Given the description of an element on the screen output the (x, y) to click on. 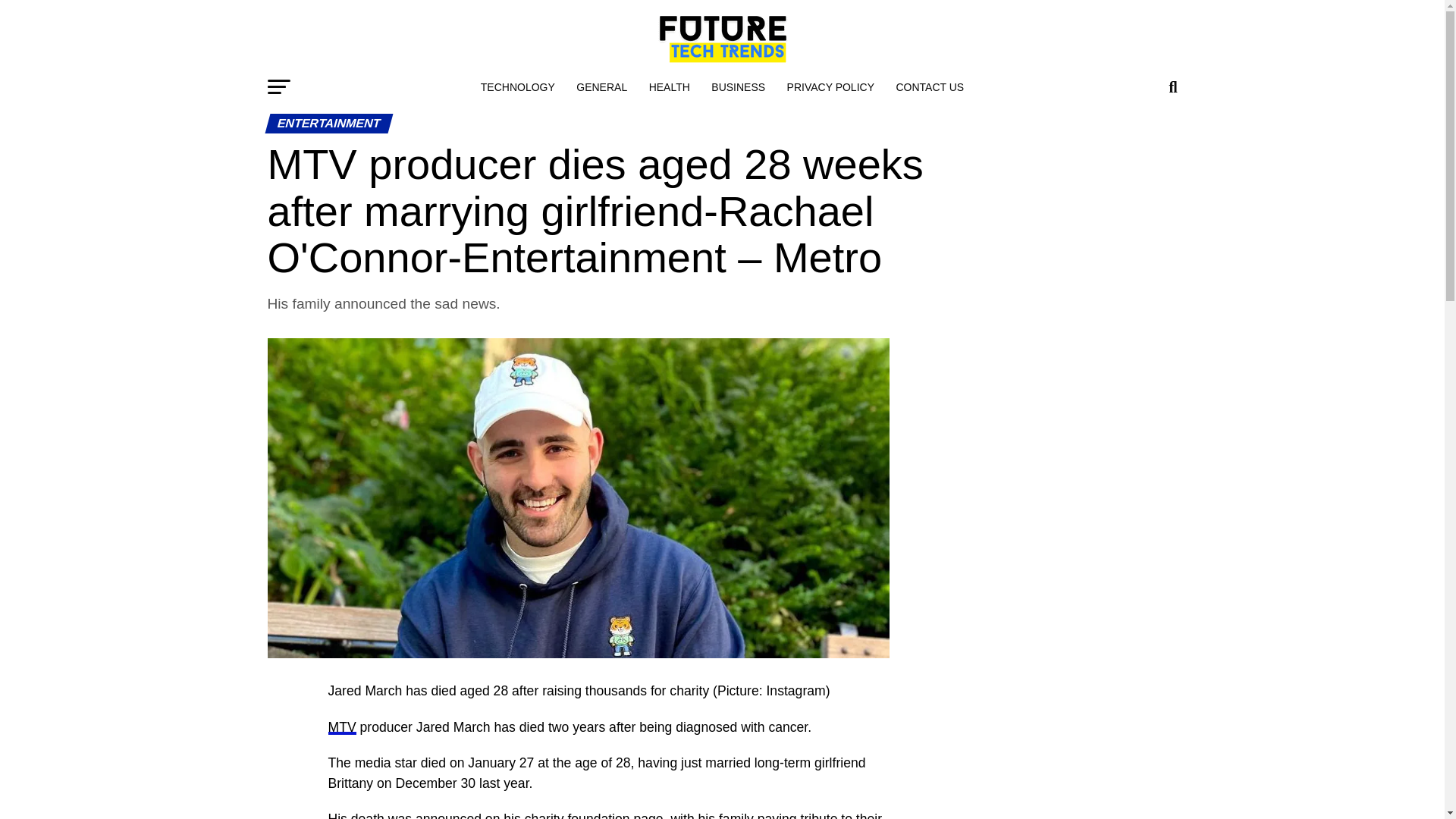
PRIVACY POLICY (830, 86)
CONTACT US (929, 86)
GENERAL (601, 86)
charity (544, 815)
TECHNOLOGY (517, 86)
HEALTH (669, 86)
BUSINESS (737, 86)
MTV (341, 726)
